Given the description of an element on the screen output the (x, y) to click on. 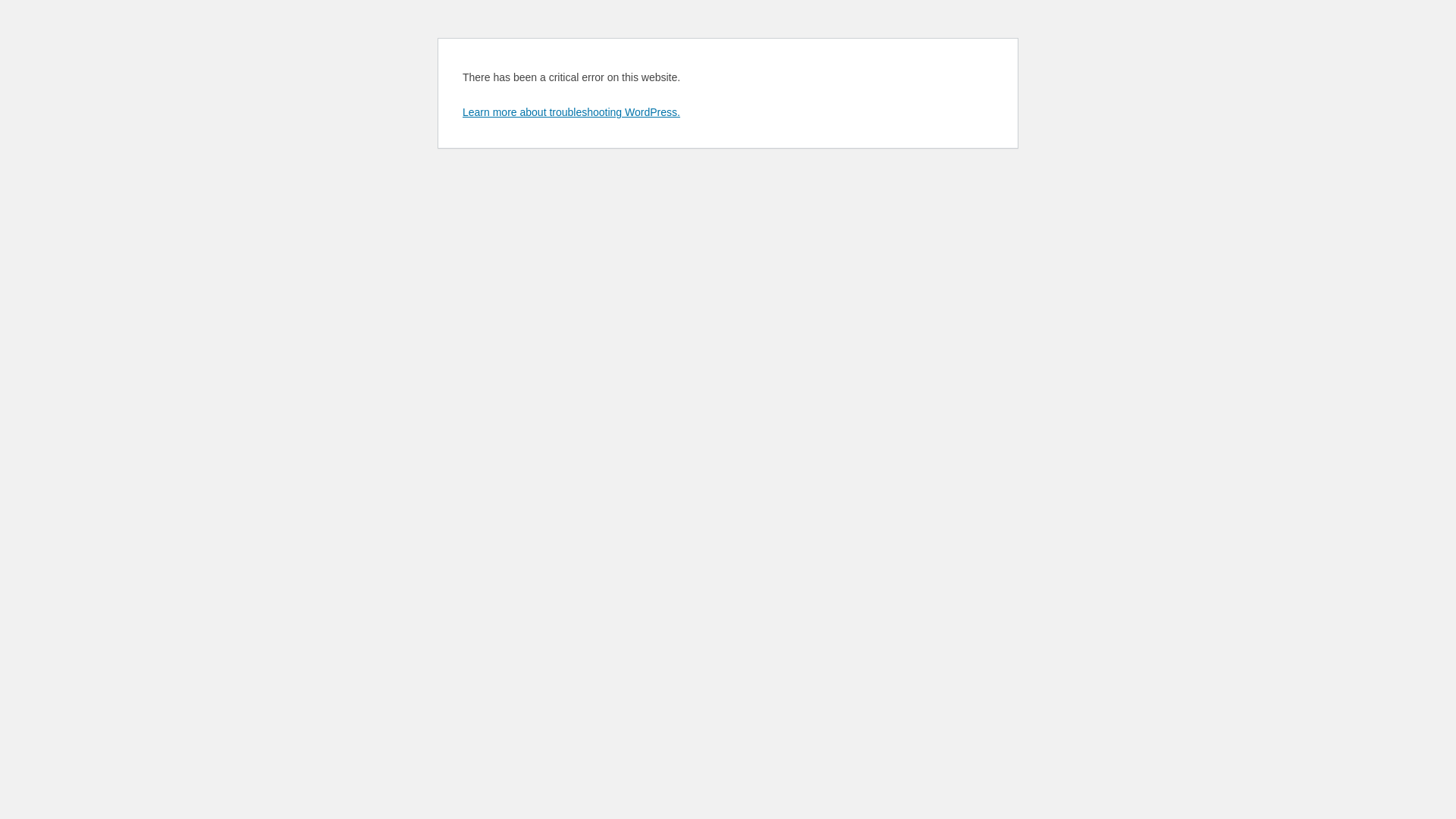
Learn more about troubleshooting WordPress. Element type: text (571, 112)
